Given the description of an element on the screen output the (x, y) to click on. 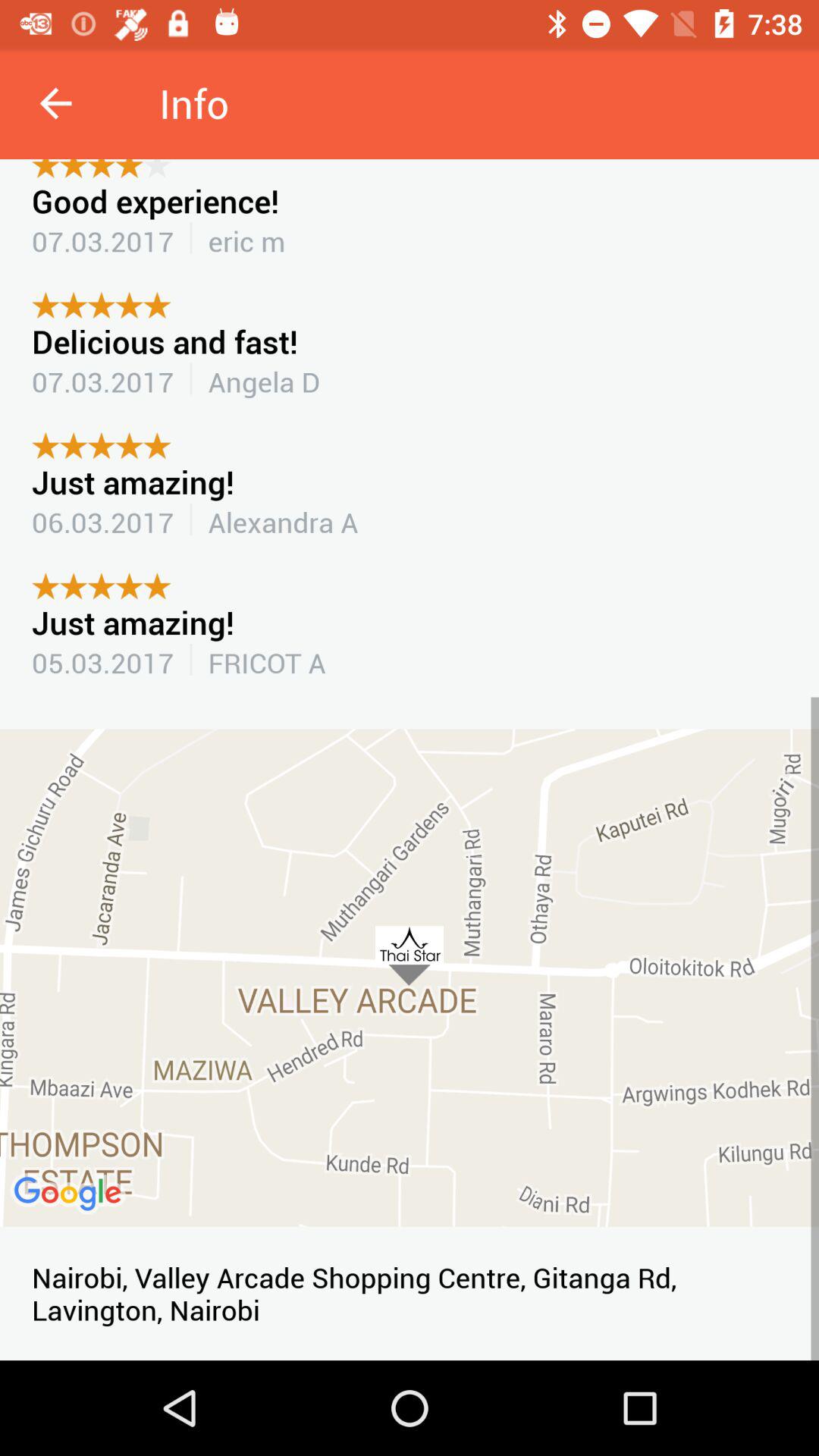
select the icon next to info (55, 103)
